Given the description of an element on the screen output the (x, y) to click on. 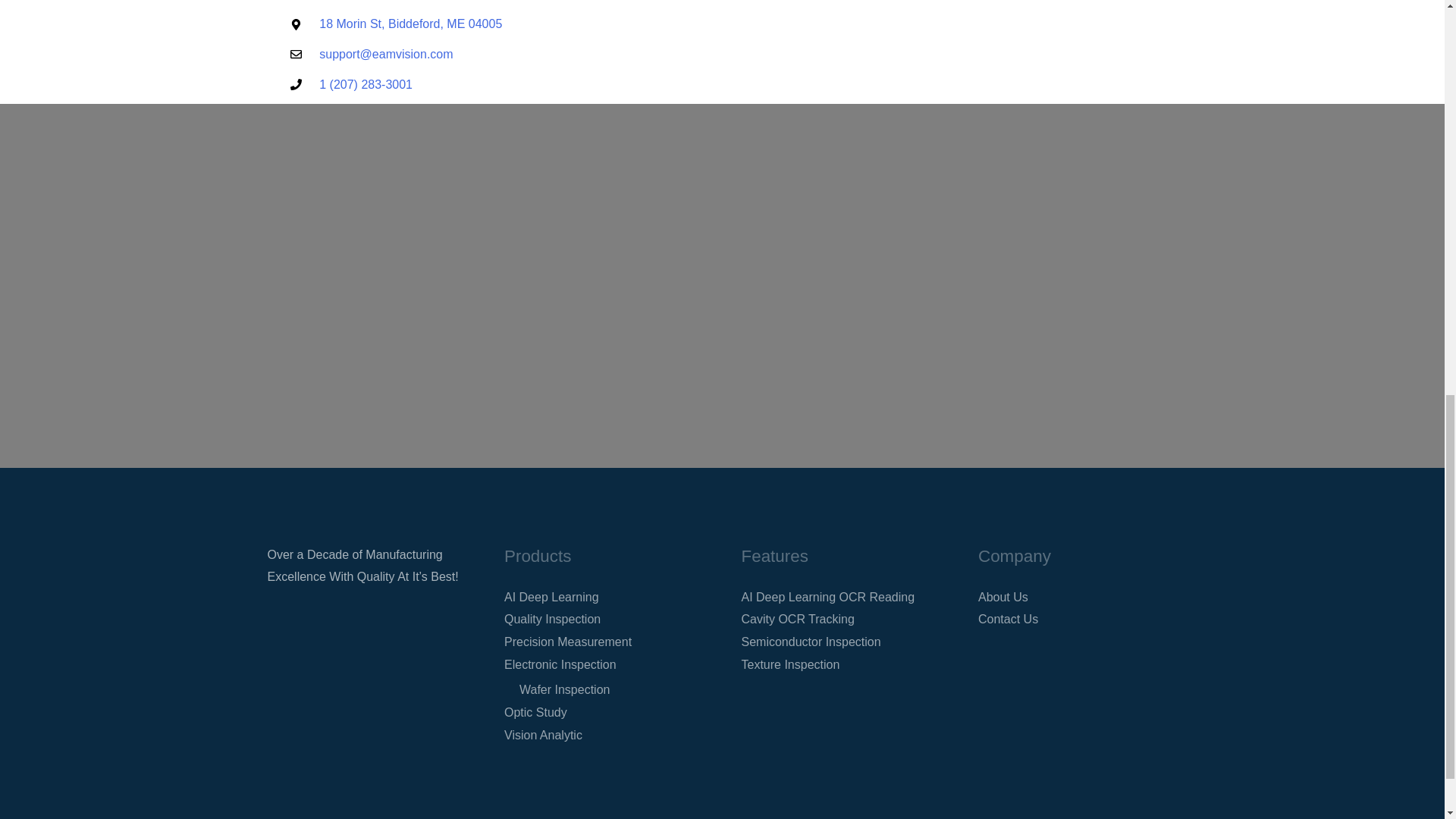
AI Deep Learning OCR Reading (828, 596)
Texture Inspection (790, 664)
About Us (1002, 596)
Semiconductor Inspection (810, 641)
Optic Study (535, 712)
Vision Analytic (542, 735)
Contact Us (1008, 618)
18 Morin St, Biddeford, ME 04005 (683, 24)
Precision Measurement (567, 641)
Wafer Inspection (564, 689)
Cavity OCR Tracking (797, 618)
AI Deep Learning (550, 596)
Quality Inspection (551, 618)
Electronic Inspection (559, 664)
